Given the description of an element on the screen output the (x, y) to click on. 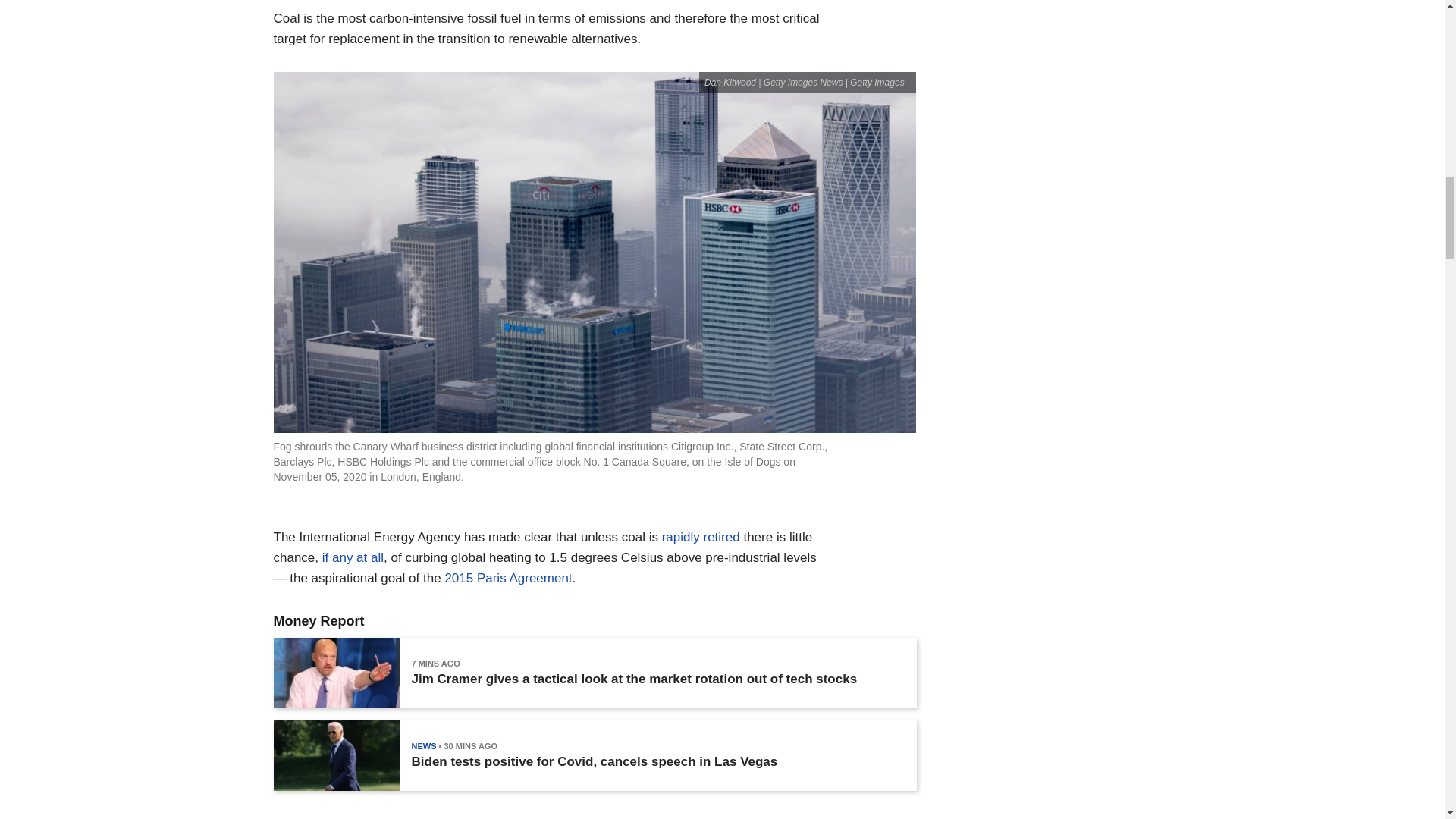
2015 Paris Agreement (508, 577)
if any at all (352, 557)
NEWS (422, 746)
Biden tests positive for Covid, cancels speech in Las Vegas (593, 761)
rapidly retired (700, 536)
